Given the description of an element on the screen output the (x, y) to click on. 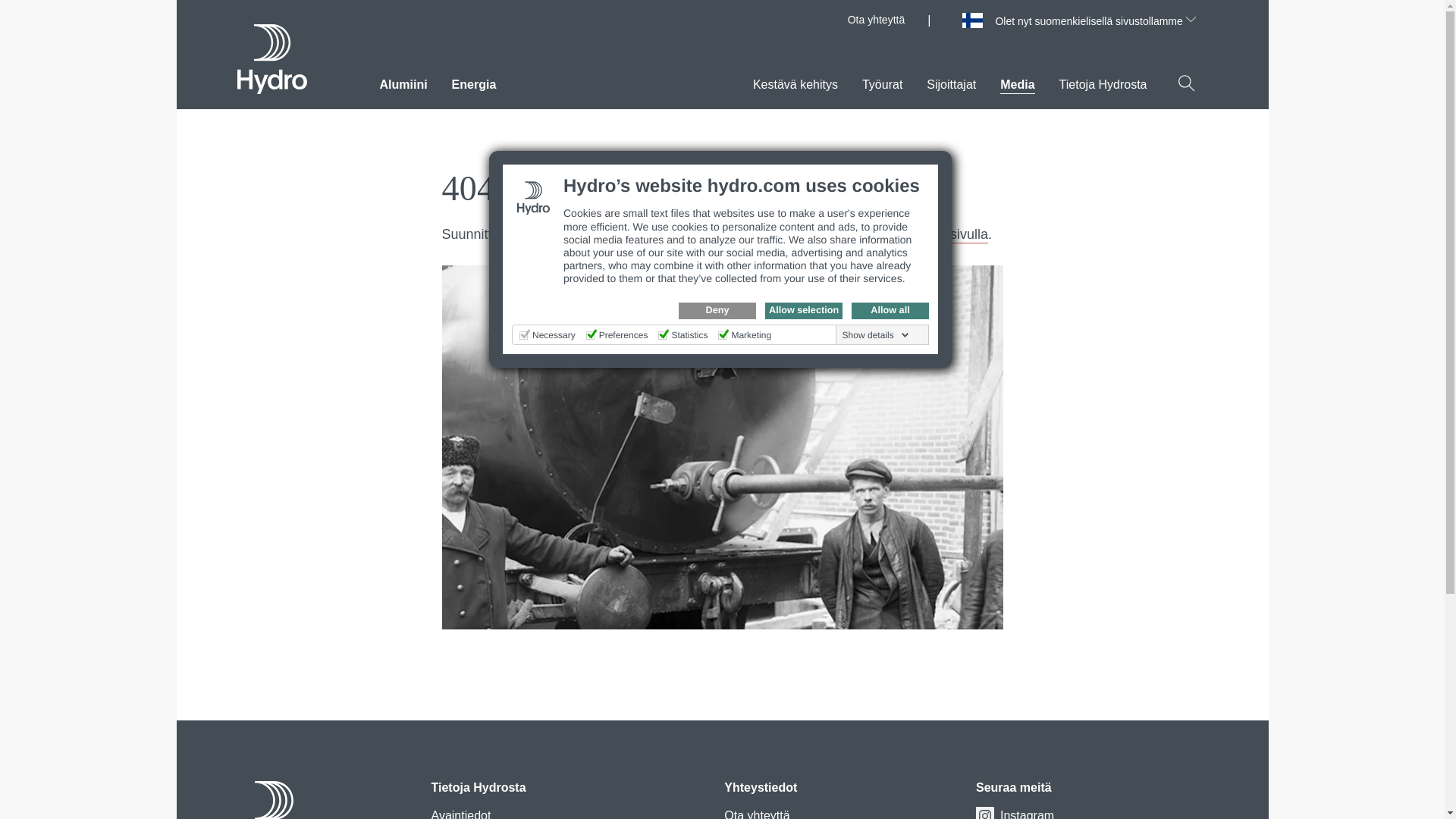
Allow all (889, 310)
Allow selection (804, 310)
Show details (876, 335)
Deny (716, 310)
